Given the description of an element on the screen output the (x, y) to click on. 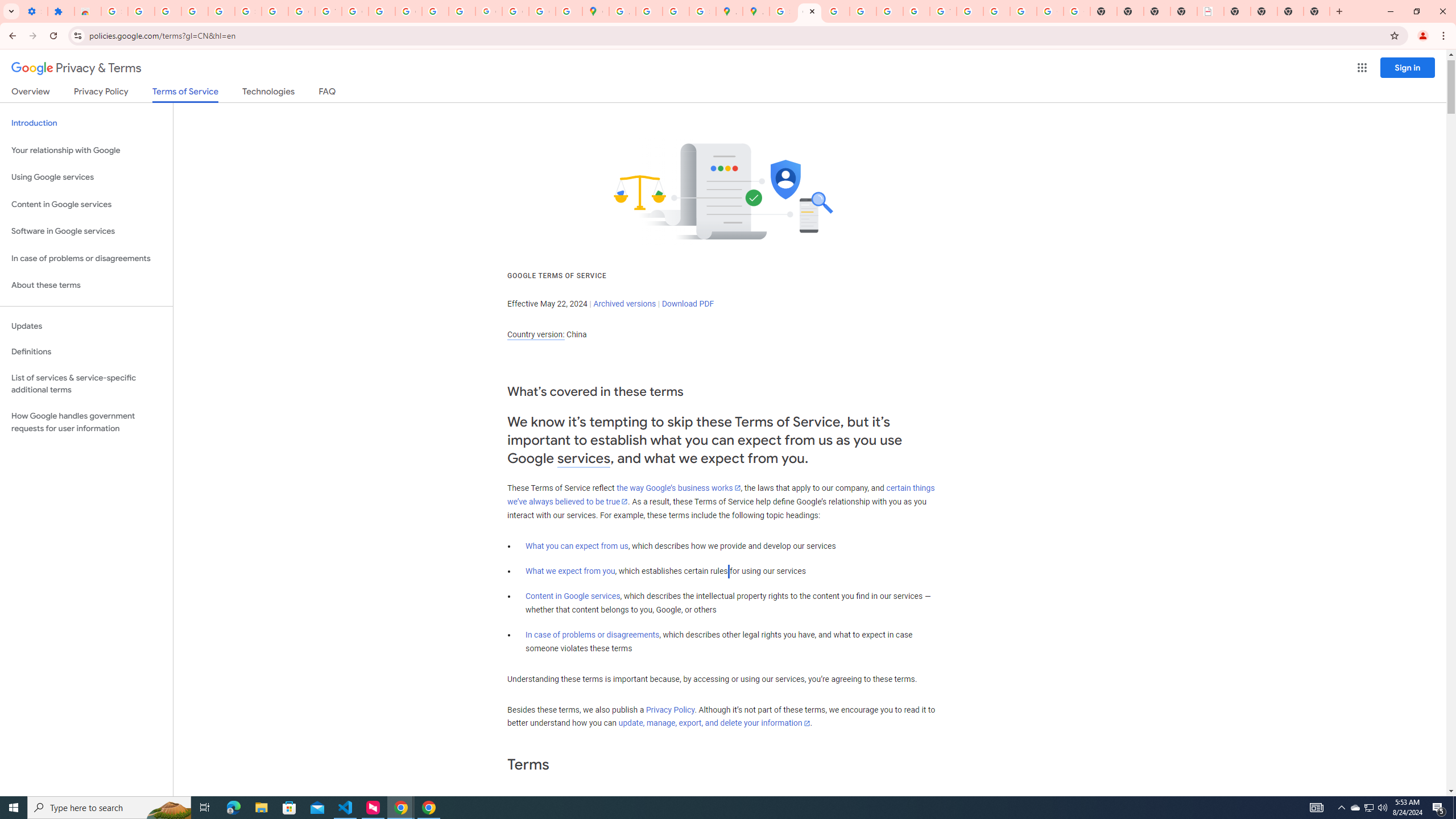
About these terms (86, 284)
Delete photos & videos - Computer - Google Photos Help (167, 11)
Country version: (535, 334)
